Given the description of an element on the screen output the (x, y) to click on. 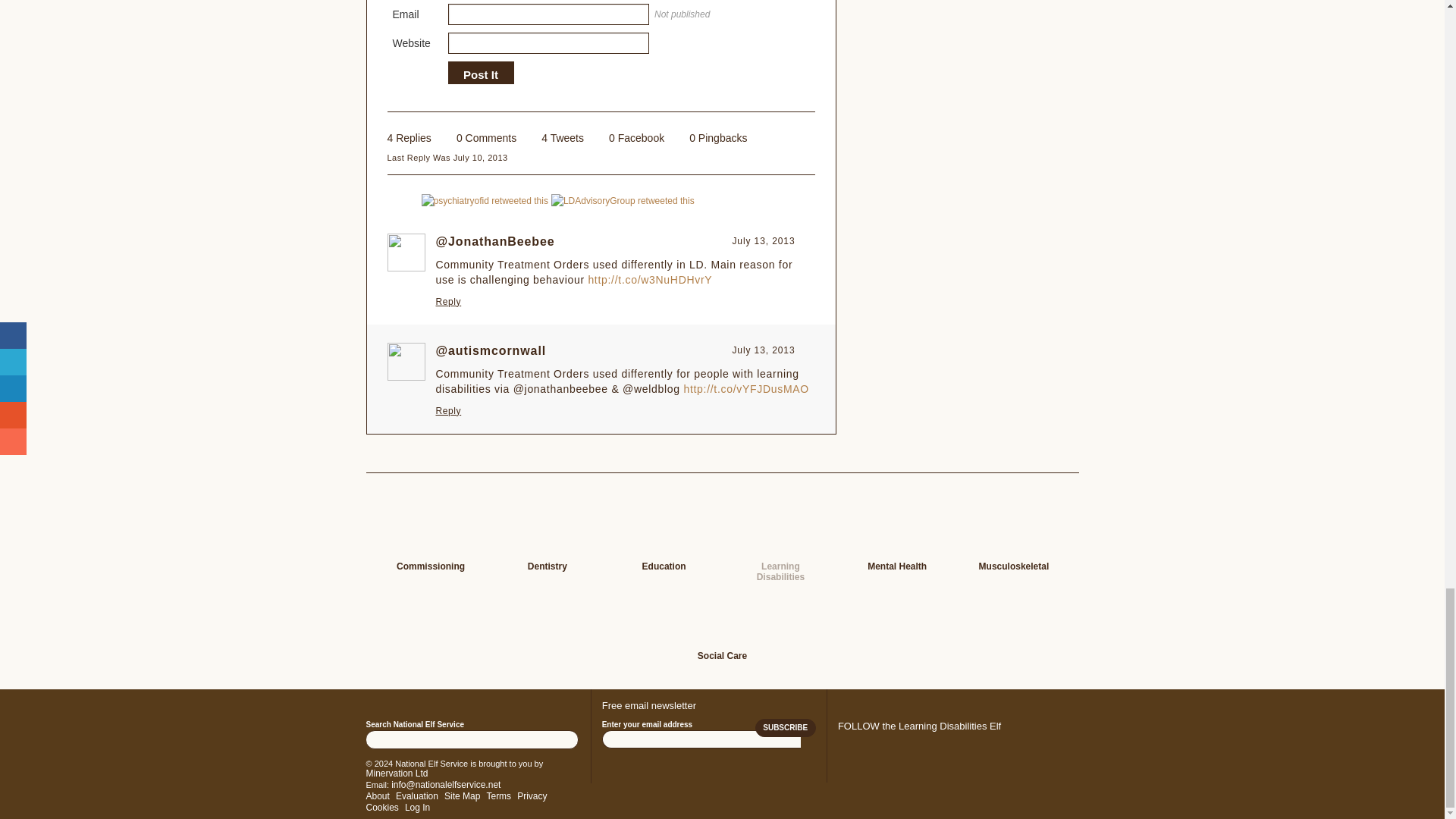
Post It (479, 74)
psychiatryofid retweeted this (485, 201)
Search (565, 739)
Subscribe (785, 728)
LDAdvisoryGroup retweeted this (622, 201)
